Given the description of an element on the screen output the (x, y) to click on. 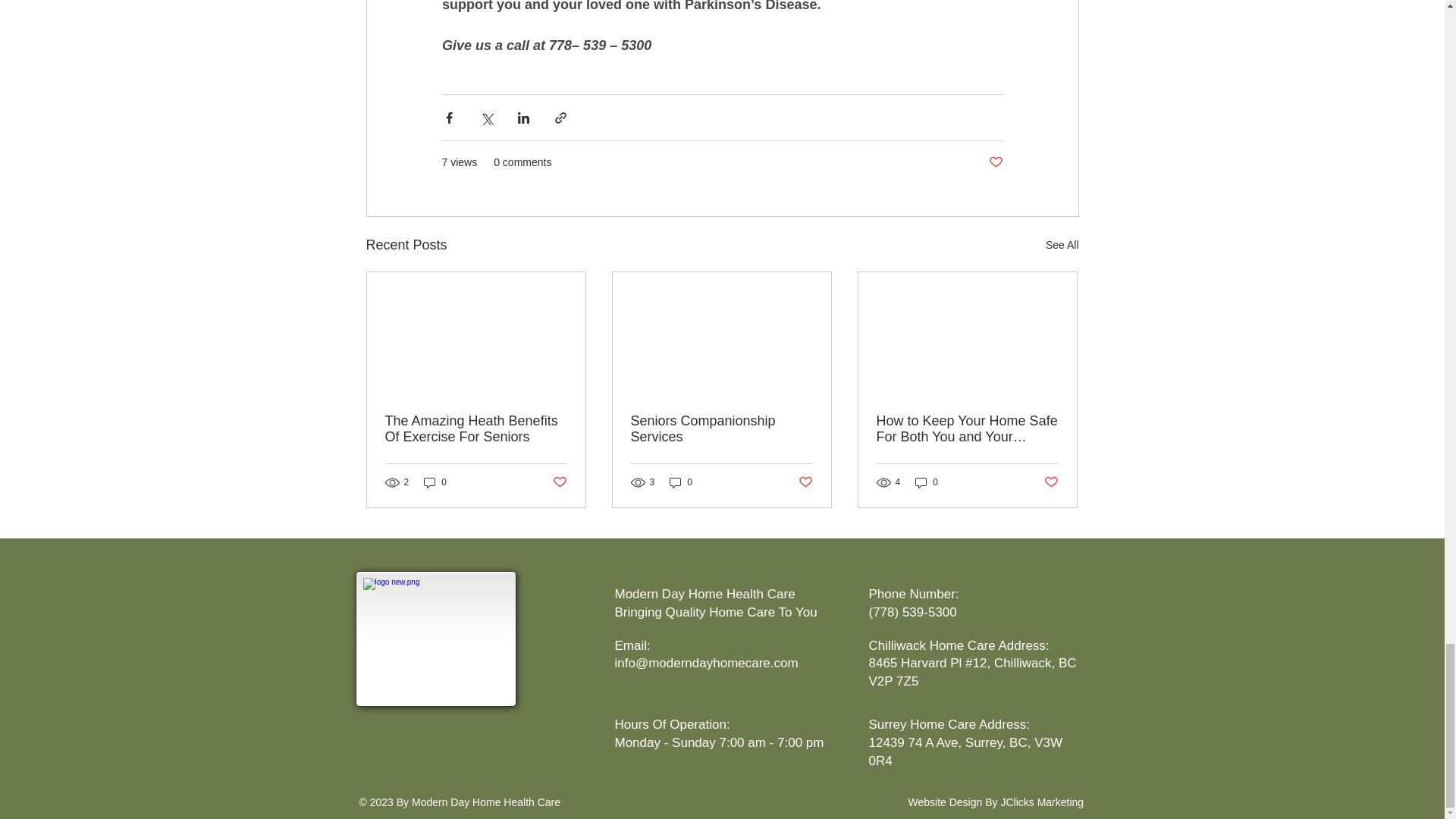
See All (1061, 245)
Post not marked as liked (995, 162)
The Amazing Heath Benefits Of Exercise For Seniors (476, 429)
Modern Day Home Health Care (436, 638)
